Given the description of an element on the screen output the (x, y) to click on. 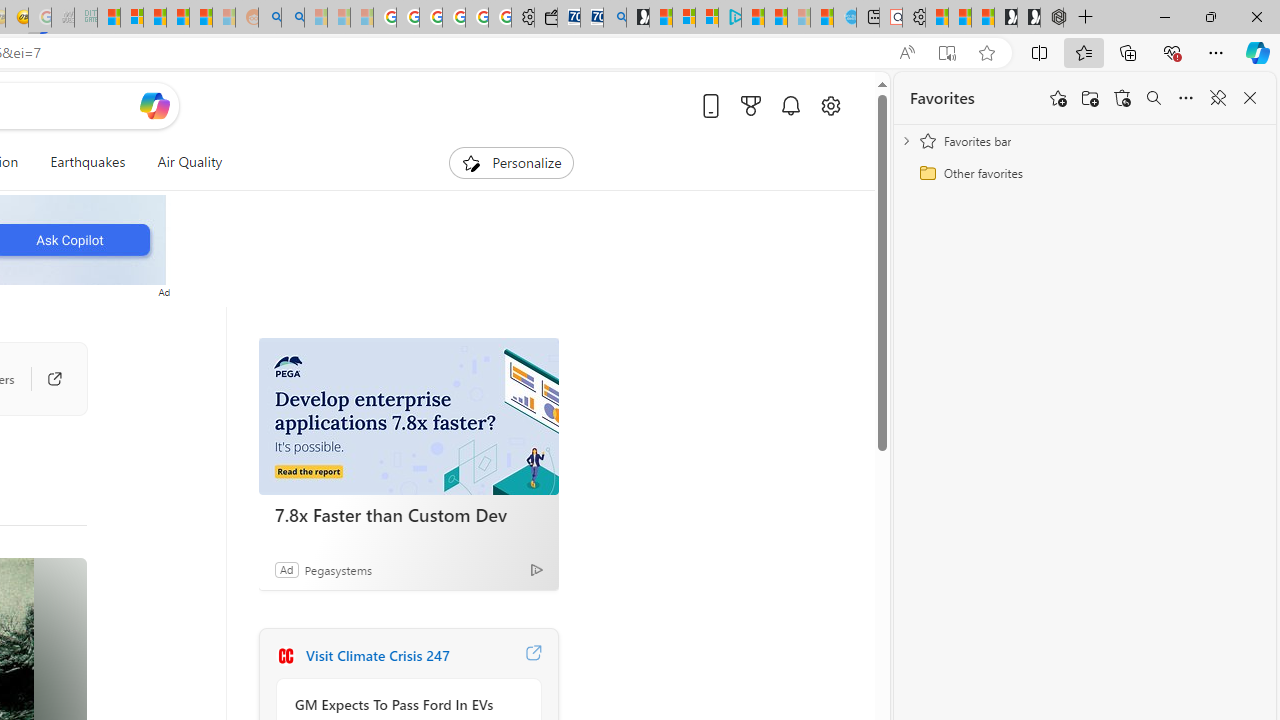
Air Quality (189, 162)
Add folder (1089, 98)
Earthquakes (88, 162)
Earthquakes (87, 162)
Visit Climate Crisis 247 website (532, 655)
